Given the description of an element on the screen output the (x, y) to click on. 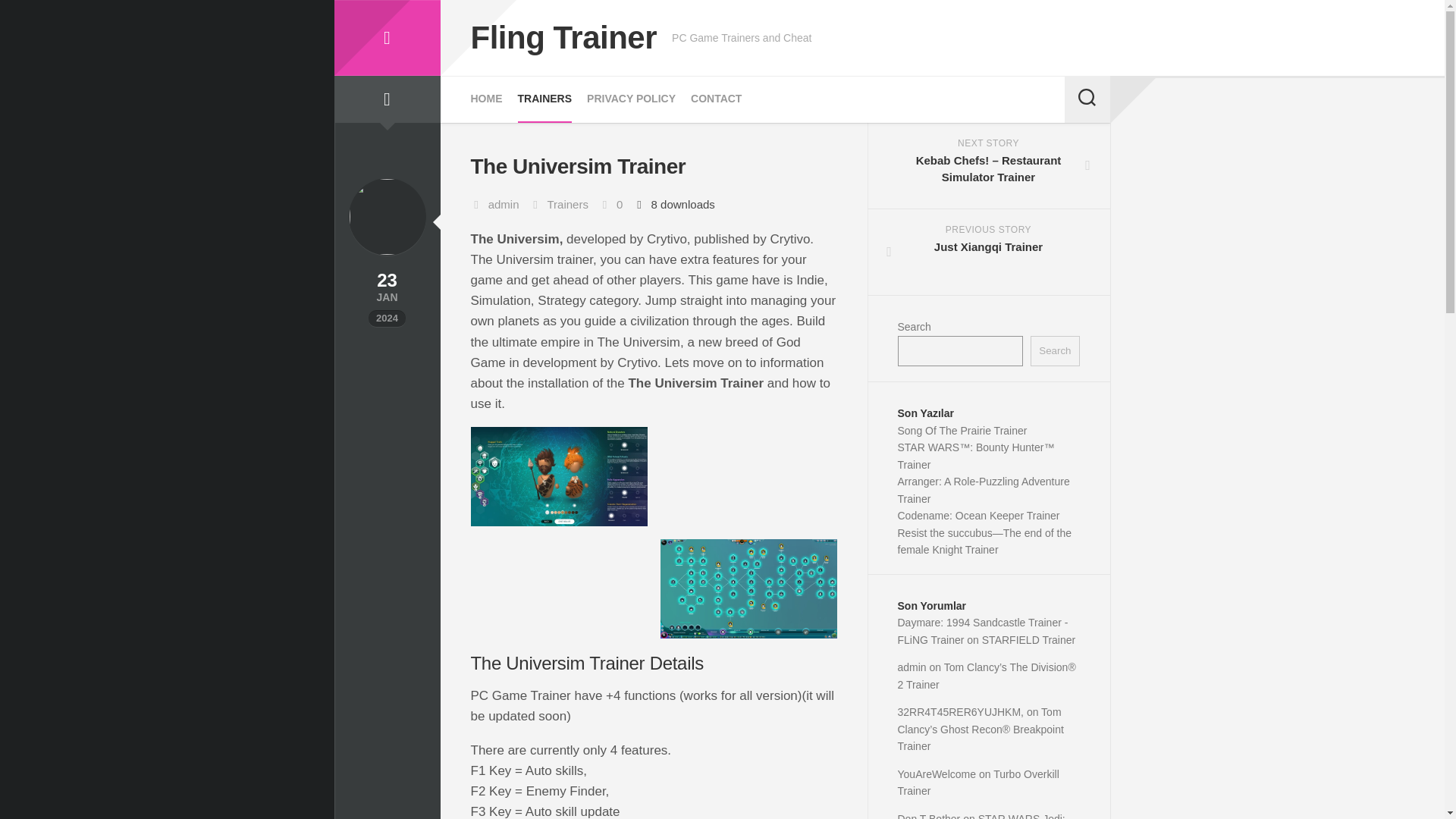
Search (1054, 350)
PRIVACY POLICY (630, 98)
Fling Trainer (563, 37)
CONTACT (715, 98)
Arranger: A Role-Puzzling Adventure Trainer (984, 490)
admin (503, 204)
Song Of The Prairie Trainer (962, 430)
HOME (486, 98)
Trainers (567, 204)
Codename: Ocean Keeper Trainer (978, 515)
Fling Trainer (386, 38)
Posts by admin (503, 204)
Daymare: 1994 Sandcastle Trainer - FLiNG Trainer (983, 631)
TRAINERS (988, 252)
